Given the description of an element on the screen output the (x, y) to click on. 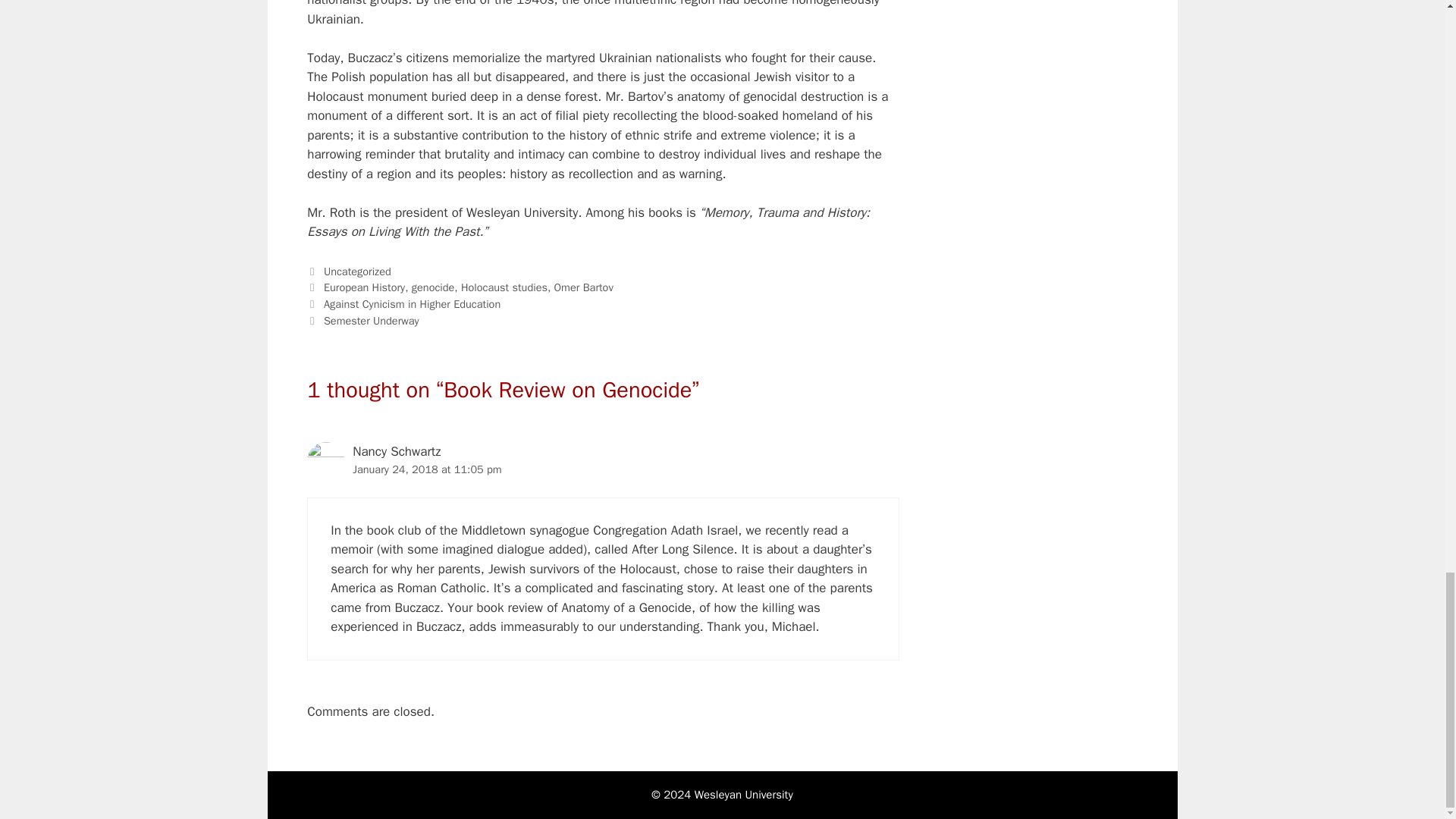
Uncategorized (357, 271)
Omer Bartov (583, 287)
Semester Underway (371, 320)
Holocaust studies (504, 287)
January 24, 2018 at 11:05 pm (426, 468)
European History (363, 287)
Against Cynicism in Higher Education (411, 304)
genocide (433, 287)
